Given the description of an element on the screen output the (x, y) to click on. 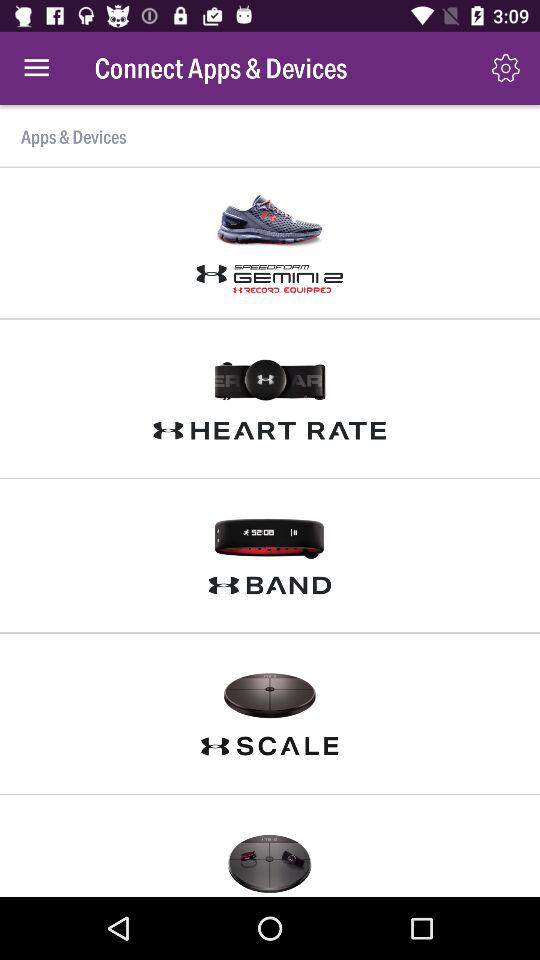
launch item to the right of connect apps & devices (505, 67)
